Given the description of an element on the screen output the (x, y) to click on. 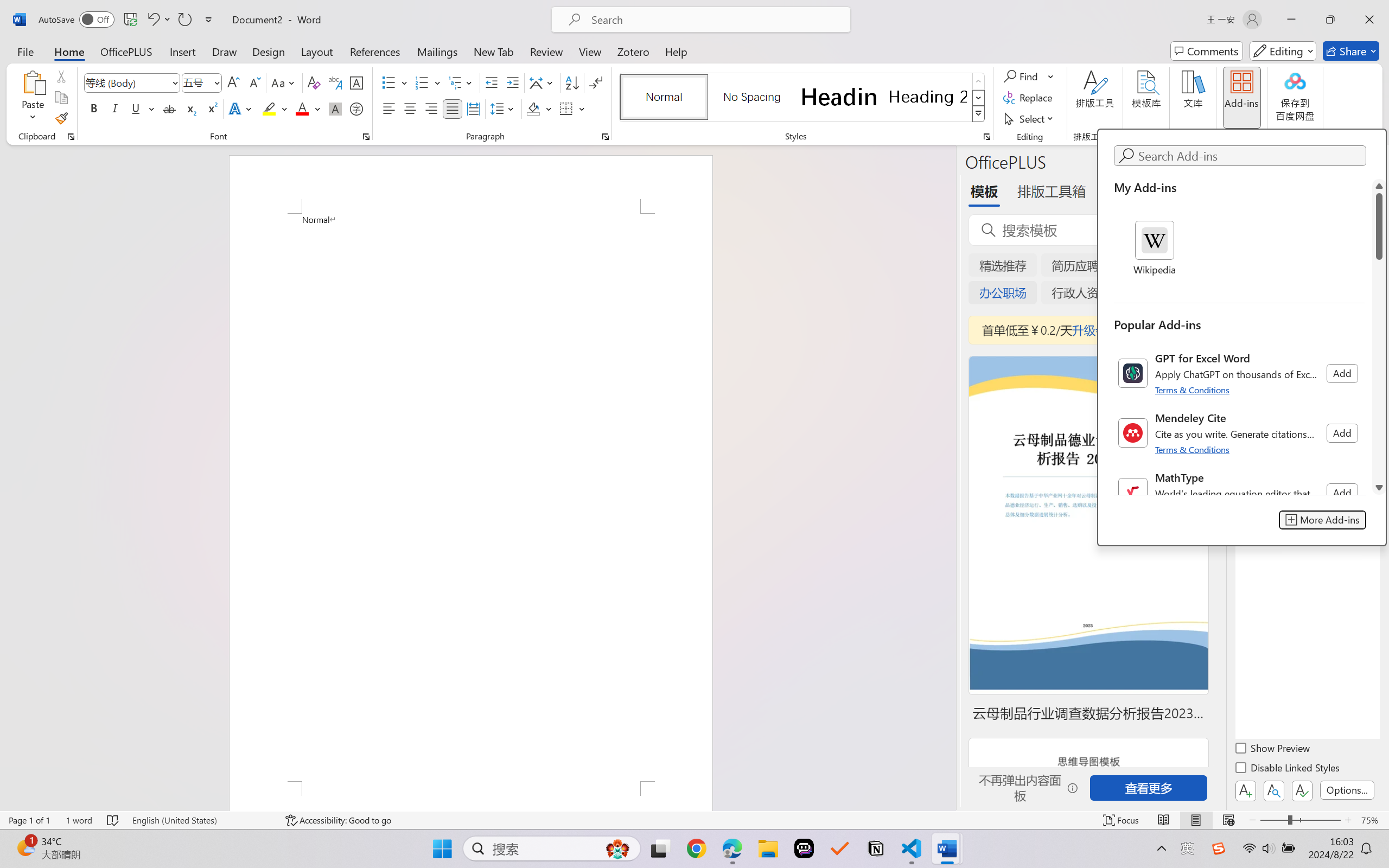
Line and Paragraph Spacing (503, 108)
Sort... (571, 82)
Quick Access Toolbar (127, 19)
Font... (365, 136)
OfficePLUS (126, 51)
Review (546, 51)
Shading RGB(0, 0, 0) (533, 108)
Distributed (473, 108)
AutoSave (76, 19)
Borders (571, 108)
Format Painter (60, 118)
References (375, 51)
Poe (804, 848)
